Given the description of an element on the screen output the (x, y) to click on. 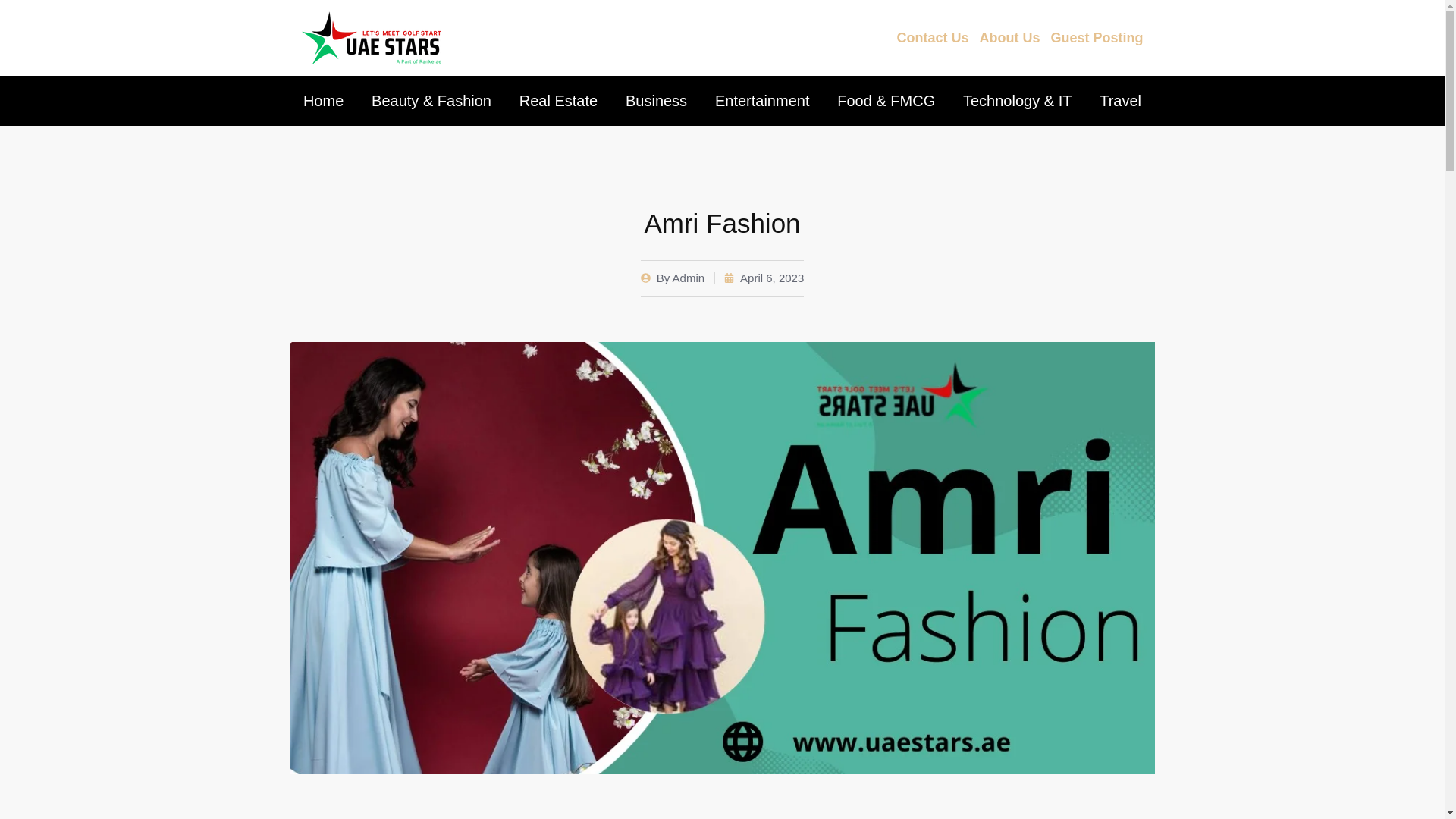
Real Estate (557, 100)
Guest Posting (1096, 37)
Travel (1120, 100)
By Admin (672, 277)
April 6, 2023 (763, 277)
Contact Us (932, 37)
Home (322, 100)
Entertainment (761, 100)
Business (656, 100)
About Us (1009, 37)
